Given the description of an element on the screen output the (x, y) to click on. 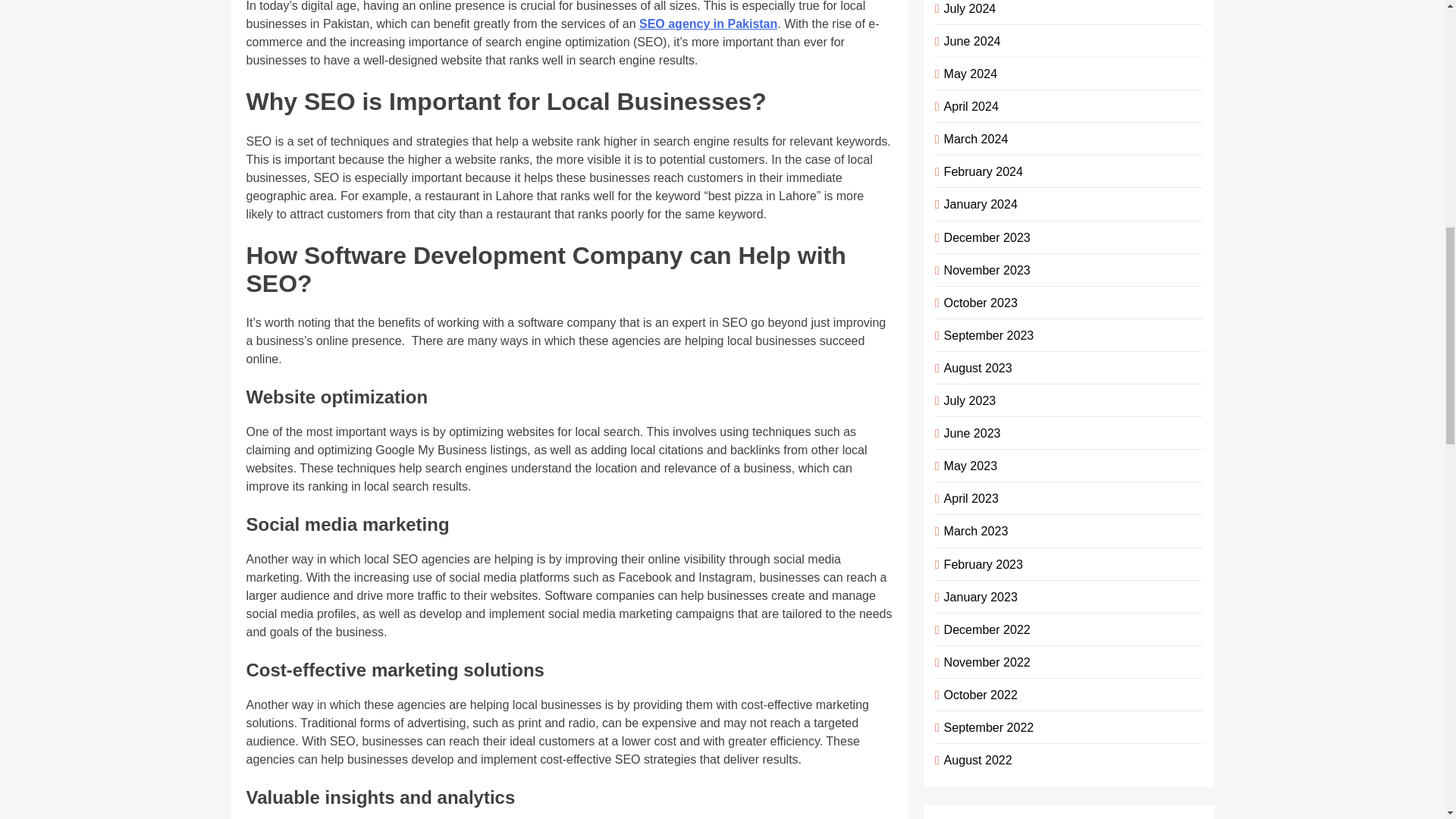
SEO agency in Pakistan (708, 23)
